Given the description of an element on the screen output the (x, y) to click on. 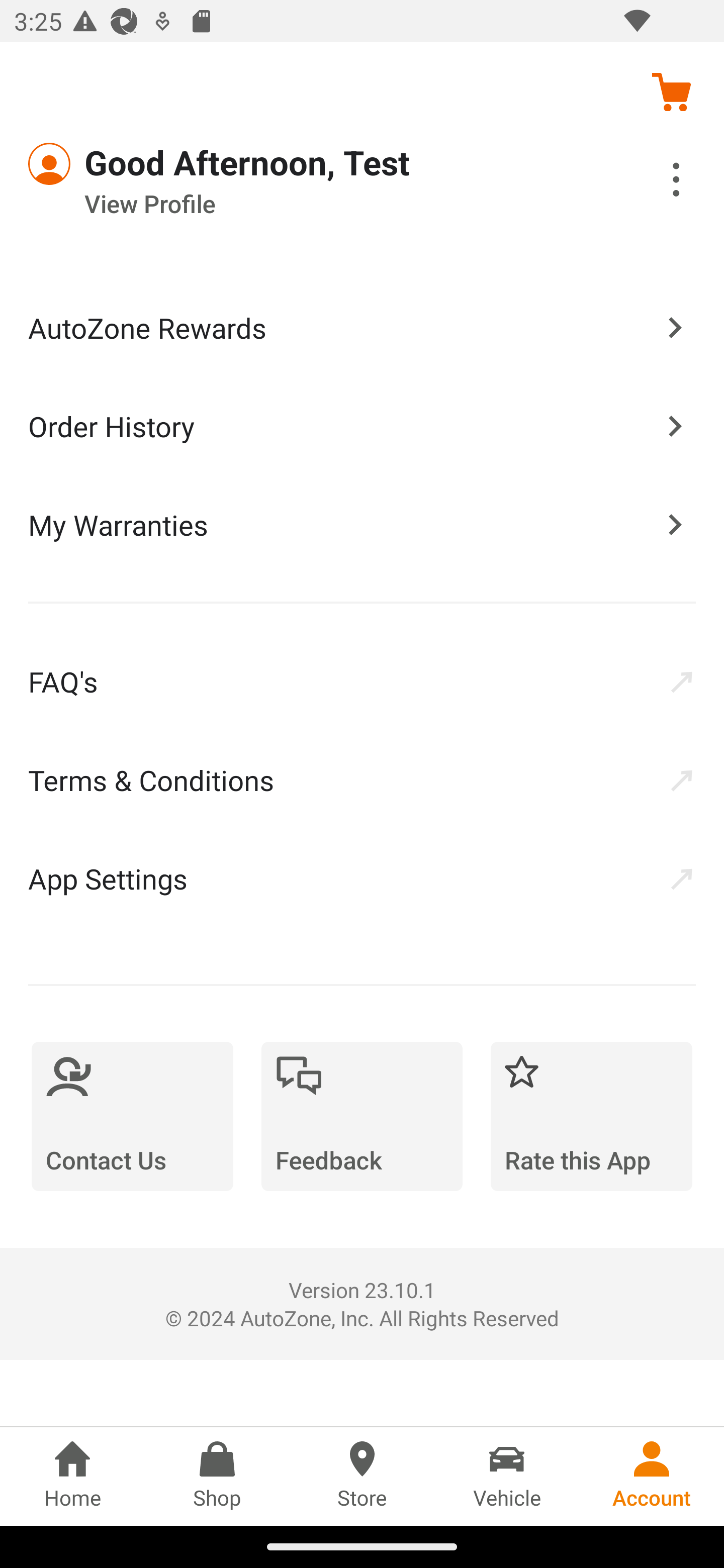
Cart, no items  (670, 91)
Good  (100, 163)
︙ (654, 182)
View Profile (306, 203)
AutoZone Rewards  (361, 327)
Order History  (361, 425)
My Warranties  (361, 524)
FAQ's  (361, 680)
Terms & Conditions  (361, 779)
App Settings  (361, 878)
Contact Us (132, 1116)
Feedback (361, 1116)
Rate this App (591, 1116)
Home (72, 1475)
Shop (216, 1475)
Store (361, 1475)
Vehicle (506, 1475)
Account (651, 1475)
